Given the description of an element on the screen output the (x, y) to click on. 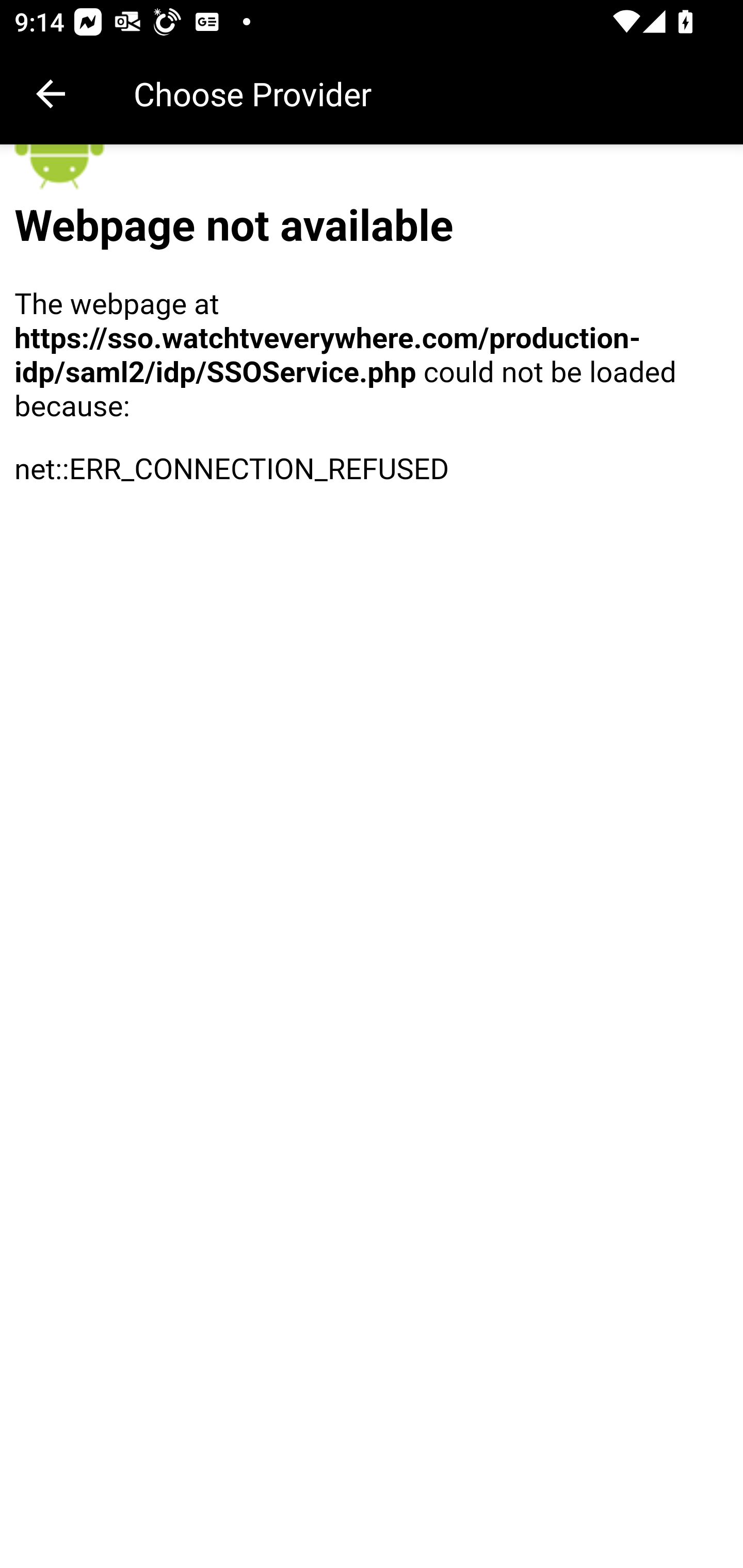
Navigate up (50, 93)
